Given the description of an element on the screen output the (x, y) to click on. 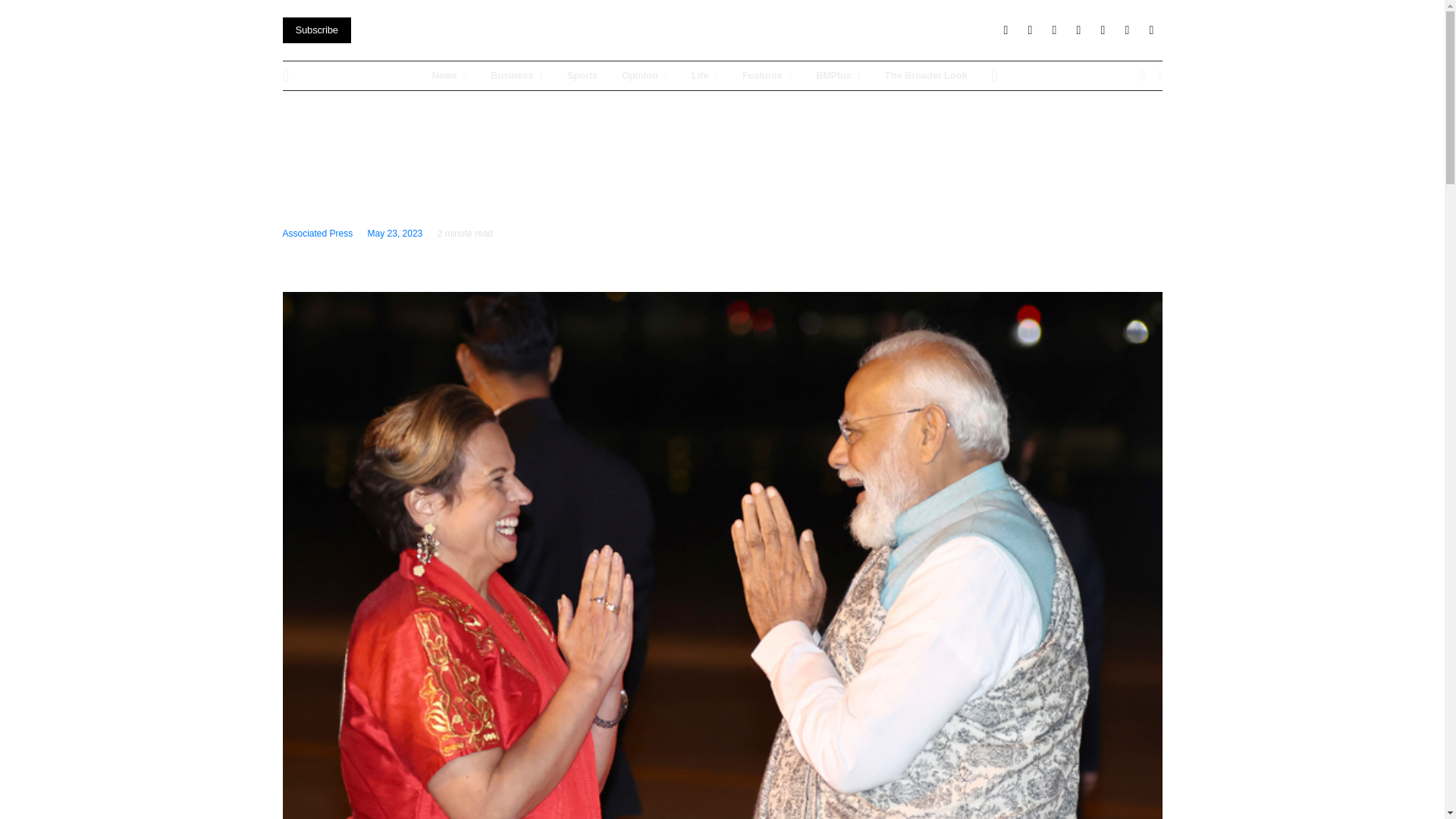
View all posts by Associated Press (317, 233)
